Given the description of an element on the screen output the (x, y) to click on. 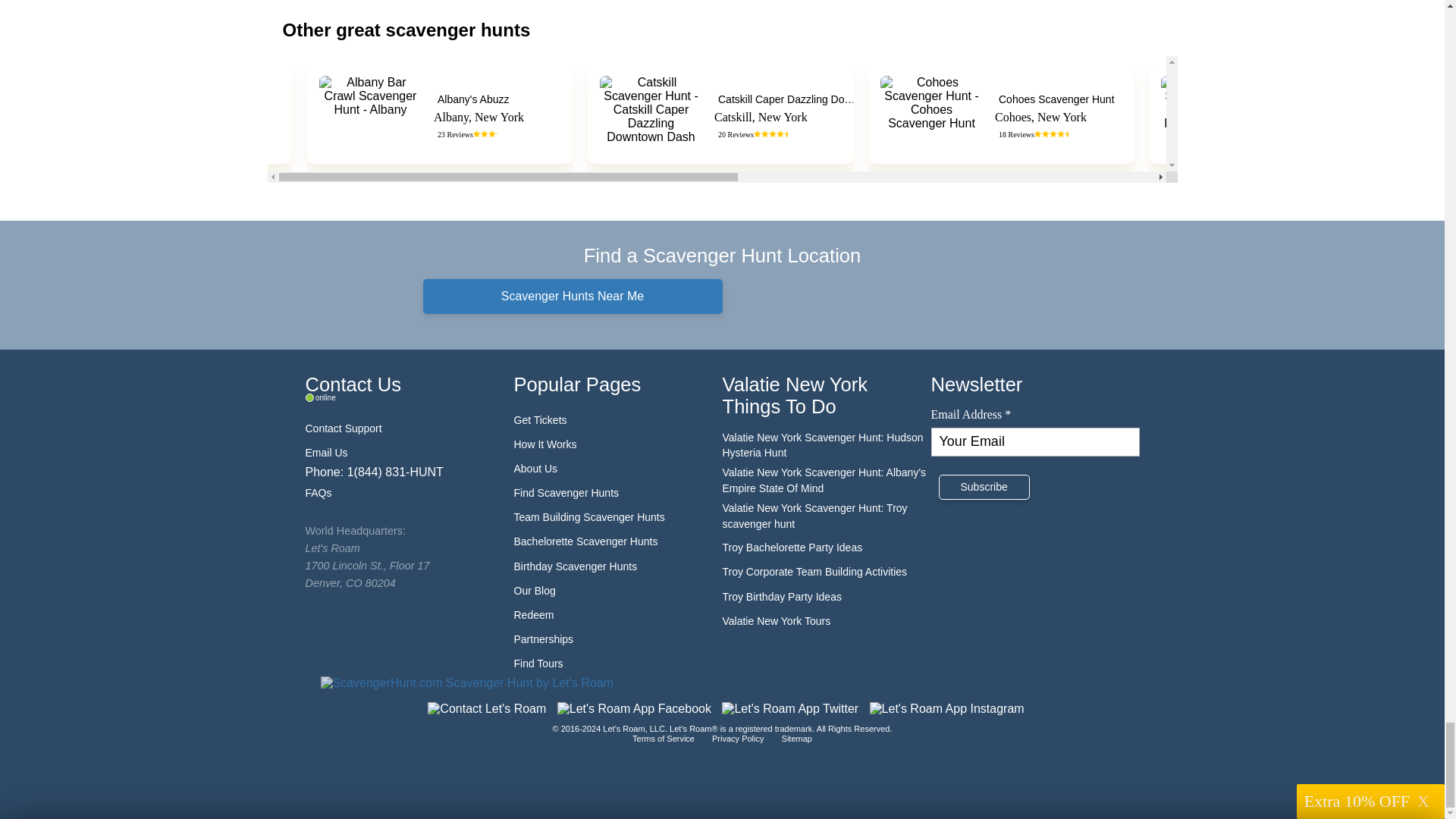
Subscribe (984, 487)
